Given the description of an element on the screen output the (x, y) to click on. 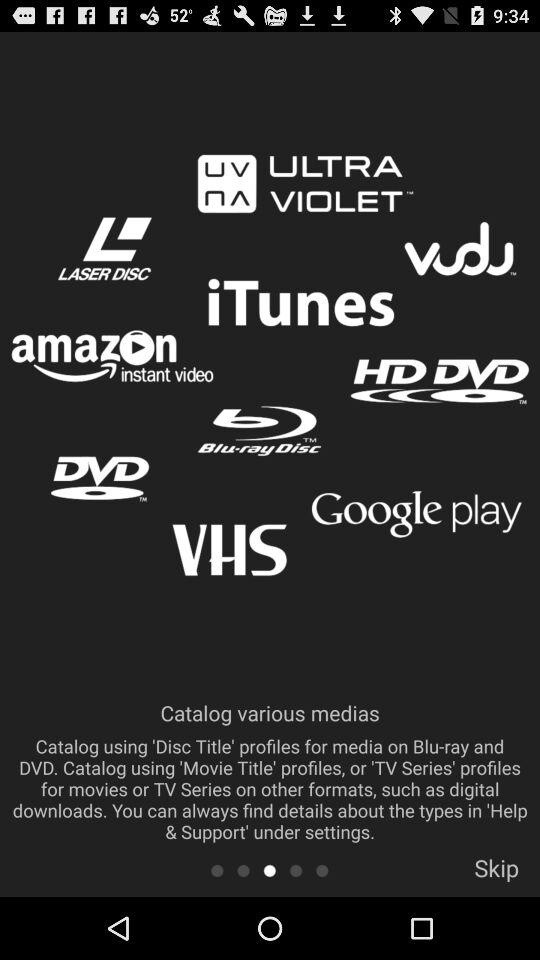
launch the icon below the catalog various medias icon (321, 870)
